Given the description of an element on the screen output the (x, y) to click on. 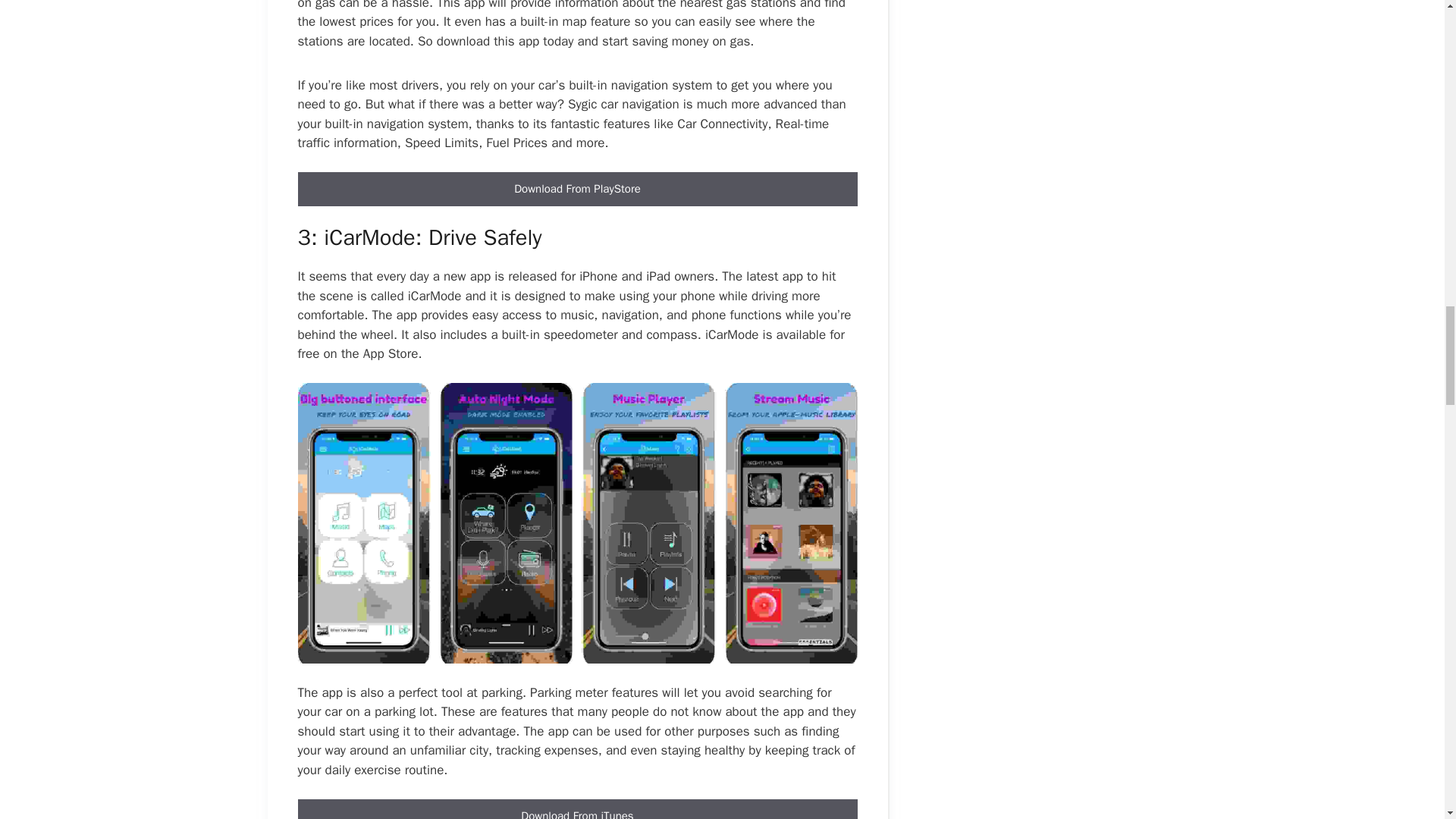
Download From PlayStore (577, 188)
Download From iTunes (577, 809)
Download From iTunes (577, 813)
